Given the description of an element on the screen output the (x, y) to click on. 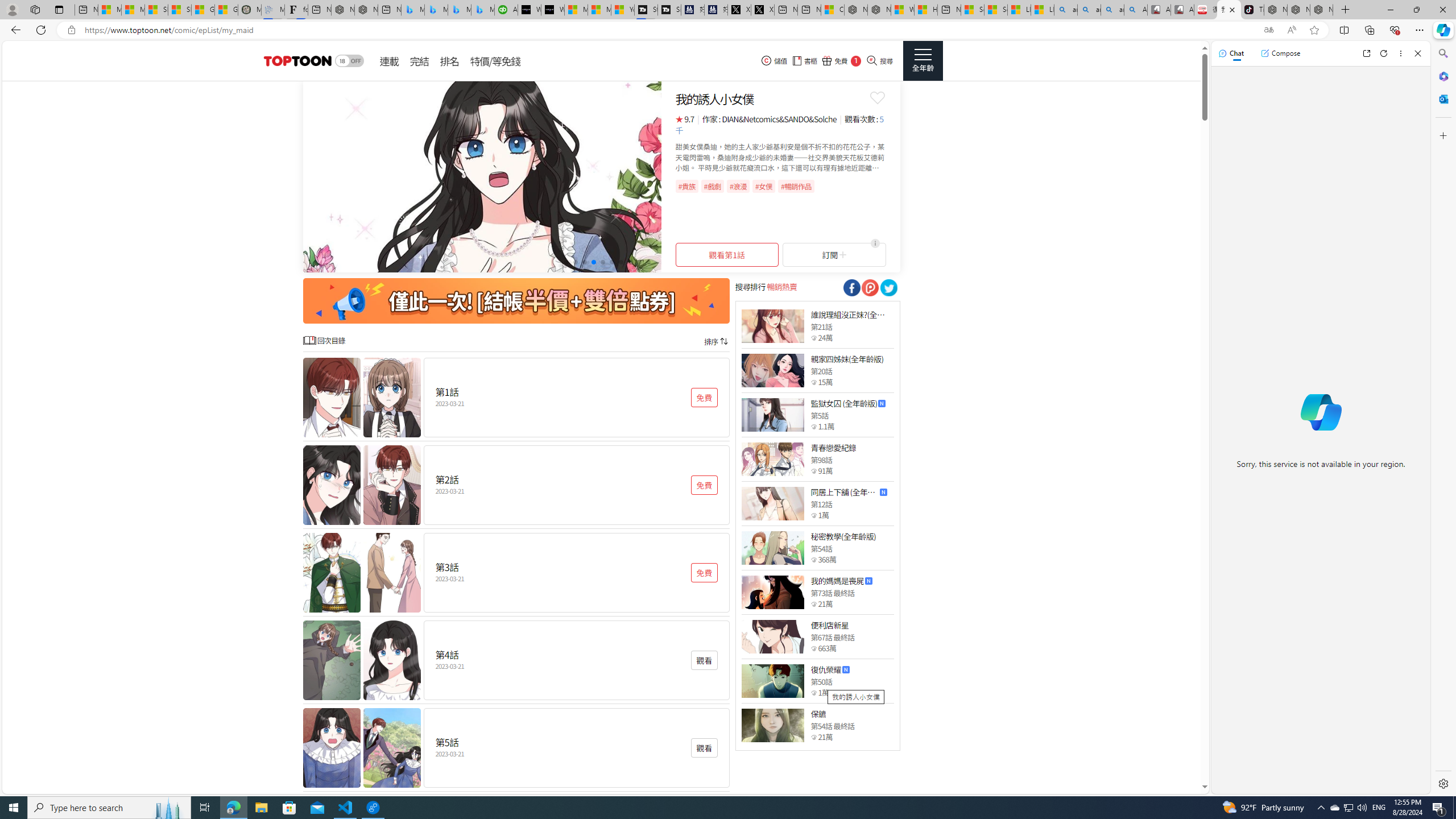
Class: side_menu_btn actionRightMenuBtn (922, 60)
More options (1401, 53)
amazon - Search Images (1112, 9)
